Given the description of an element on the screen output the (x, y) to click on. 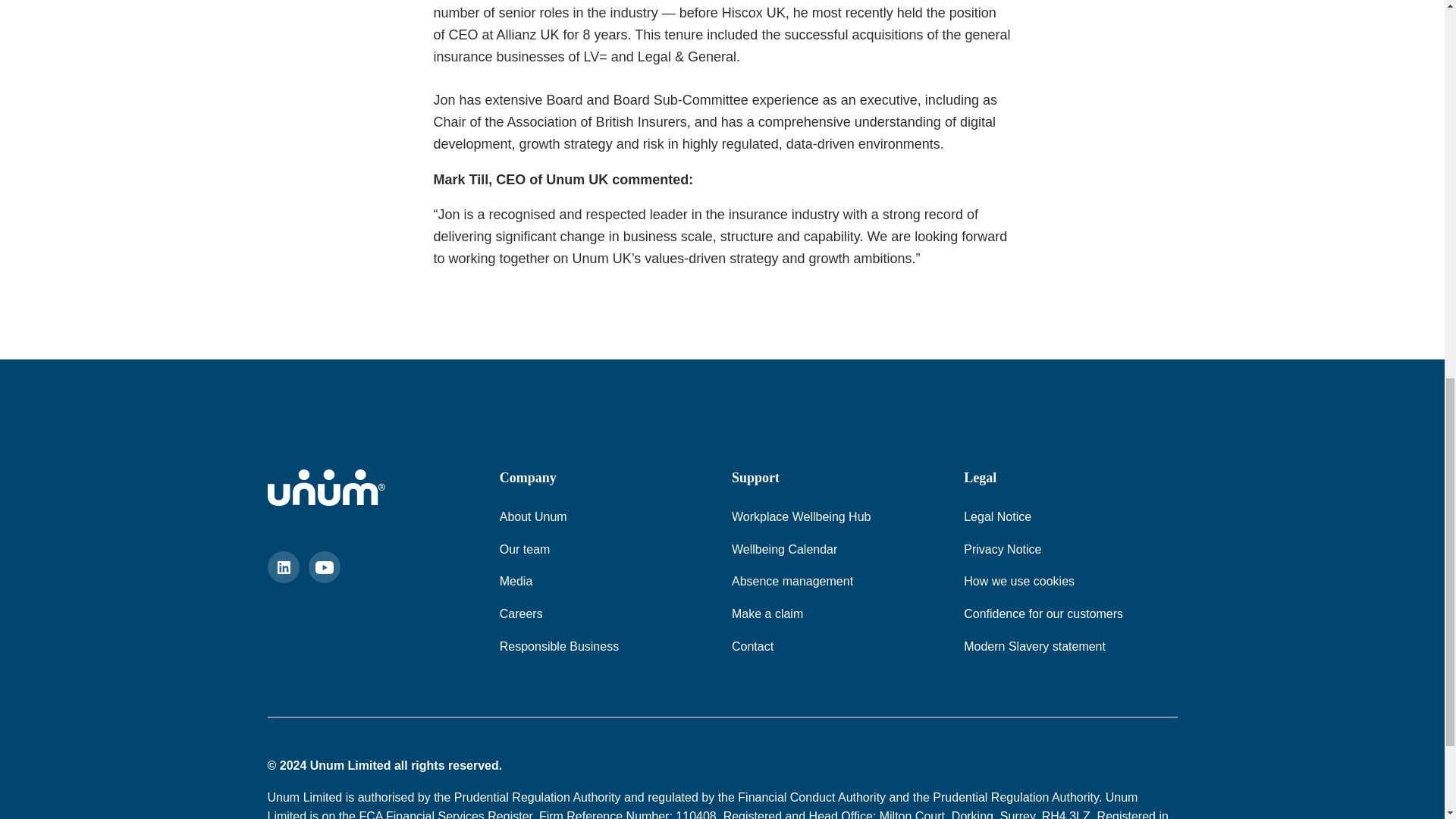
Contact (752, 646)
Make a claim (767, 614)
Confidence for our customers (1042, 614)
Responsible Business (558, 646)
Workplace Wellbeing Hub (801, 516)
Media (515, 581)
Our team (524, 549)
Privacy Notice (1002, 549)
About Unum (533, 516)
Wellbeing Calendar (784, 549)
